Given the description of an element on the screen output the (x, y) to click on. 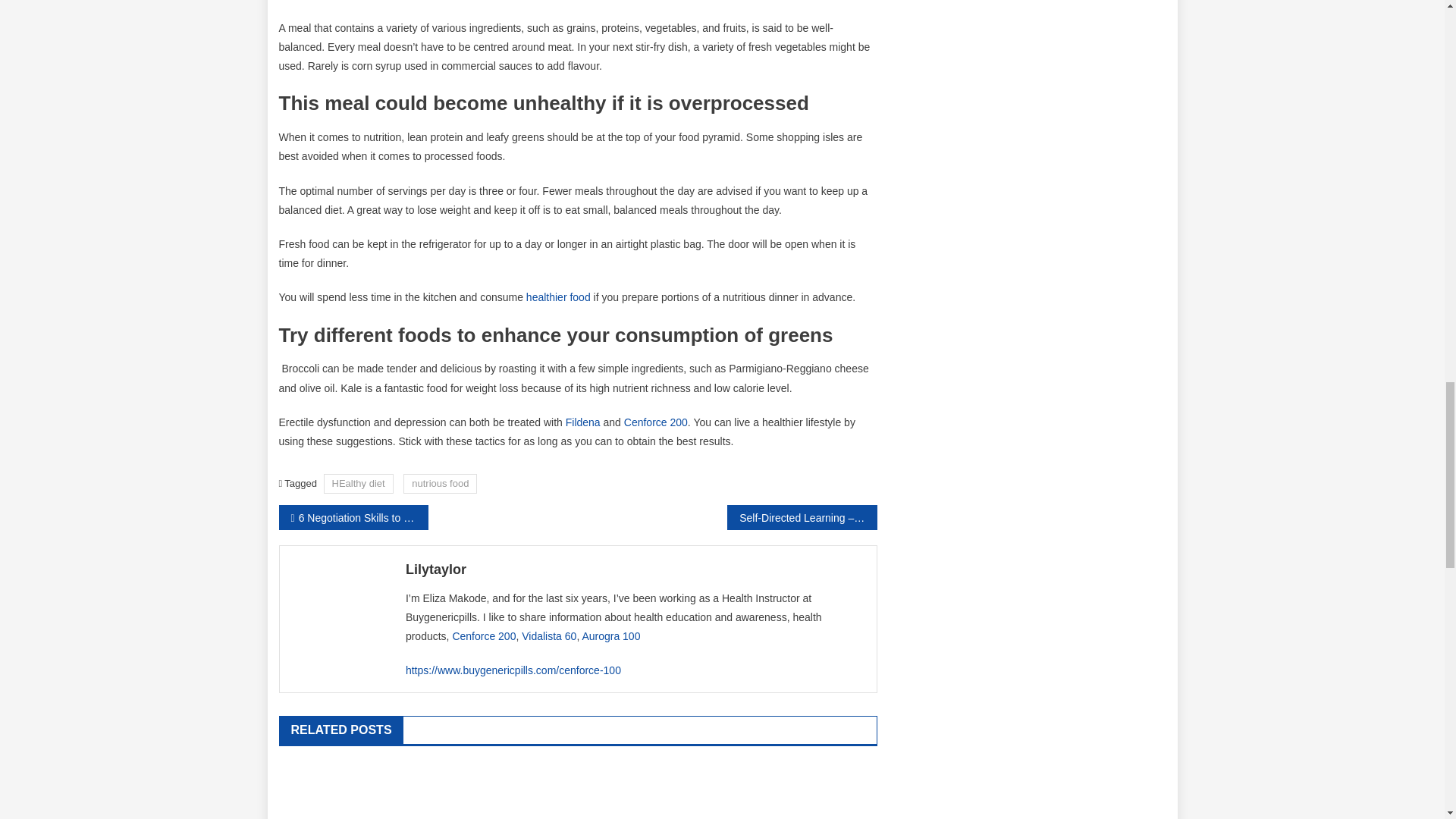
nutrious food (440, 483)
6 Negotiation Skills to Deal with Difficult Clients (353, 517)
Vidalista 60 (548, 635)
Lilytaylor (635, 568)
Aurogra 100 (610, 635)
Cenforce 200 (655, 422)
HEalthy diet (358, 483)
Cenforce 200 (483, 635)
healthier food (558, 297)
Fildena (582, 422)
